Given the description of an element on the screen output the (x, y) to click on. 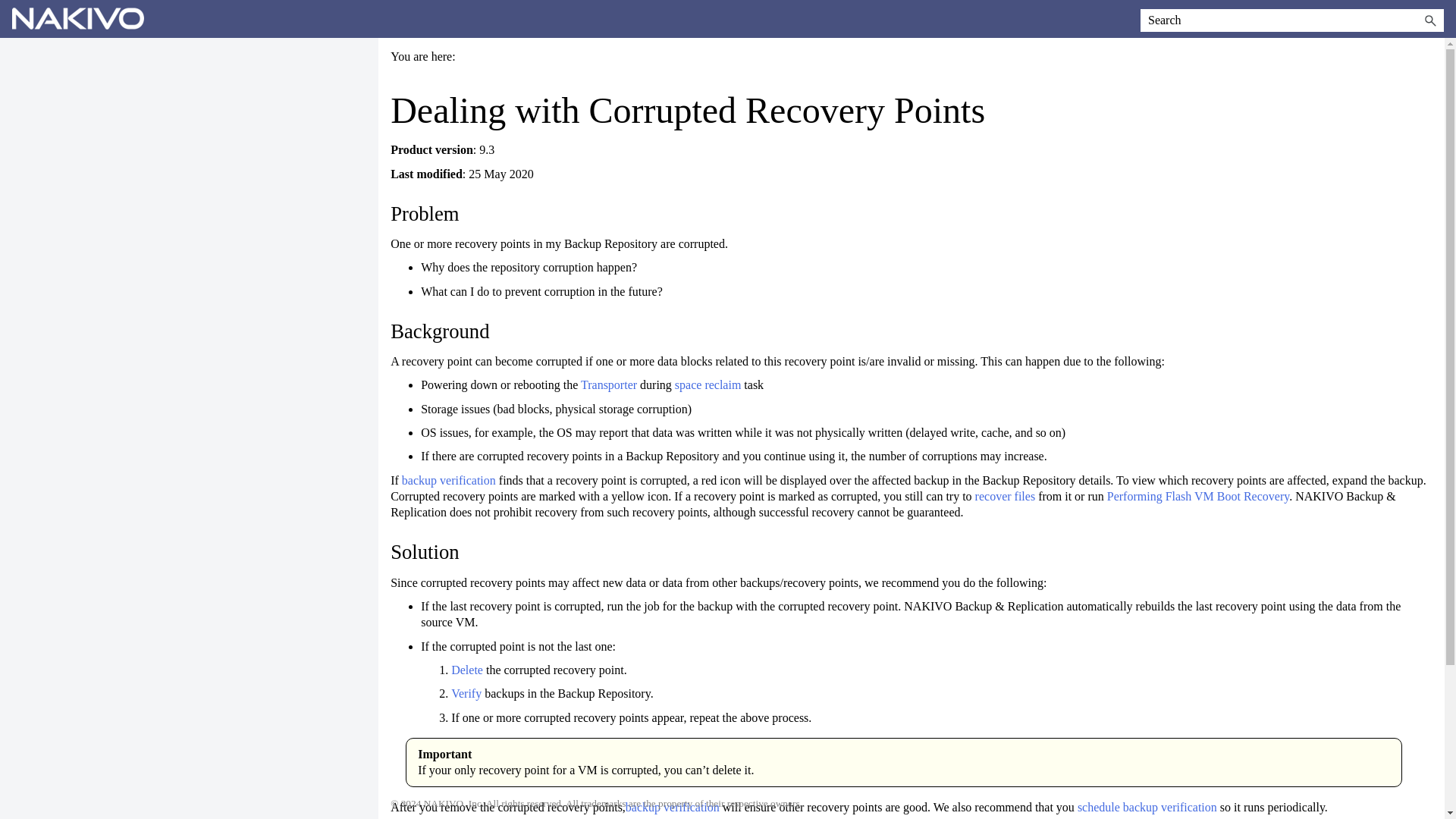
backup verification (672, 807)
Performing Flash VM Boot Recovery (1197, 495)
schedule backup verification (1147, 807)
Verify (466, 693)
Search (1430, 20)
backup verification (448, 480)
Transporter (610, 384)
Delete (468, 669)
recover files (1005, 495)
space reclaim (708, 384)
